Given the description of an element on the screen output the (x, y) to click on. 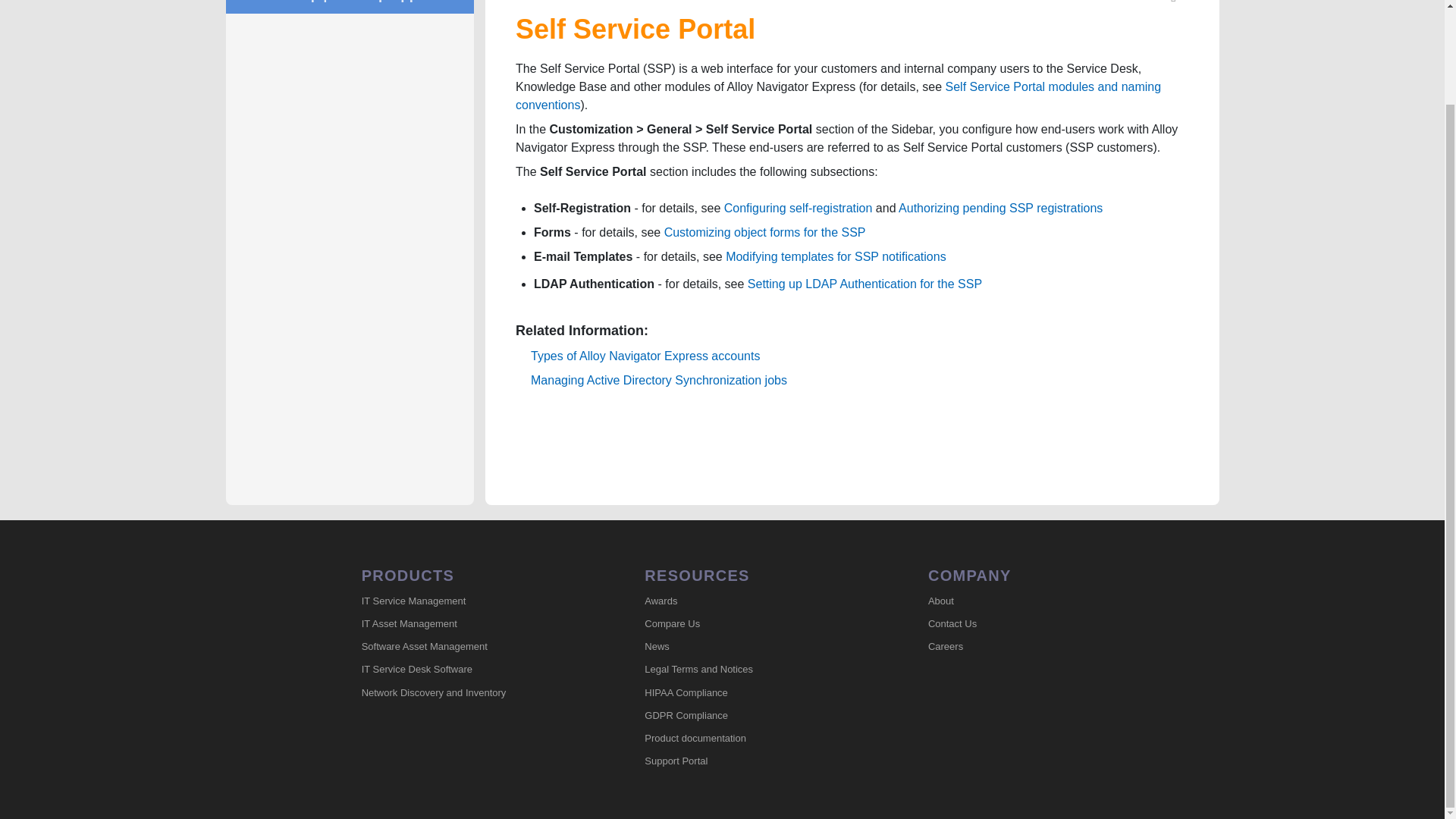
Network Discovery and Inventory (468, 692)
News (751, 647)
Print (1173, 4)
Managing Active Directory Synchronization jobs (659, 379)
Setting up LDAP Authentication for the SSP (864, 283)
Compare Us (751, 623)
Types of Alloy Navigator Express accounts (645, 355)
Self Service Portal modules and naming conventions (837, 95)
Modifying templates for SSP notifications (835, 256)
HIPAA Compliance (751, 692)
